Given the description of an element on the screen output the (x, y) to click on. 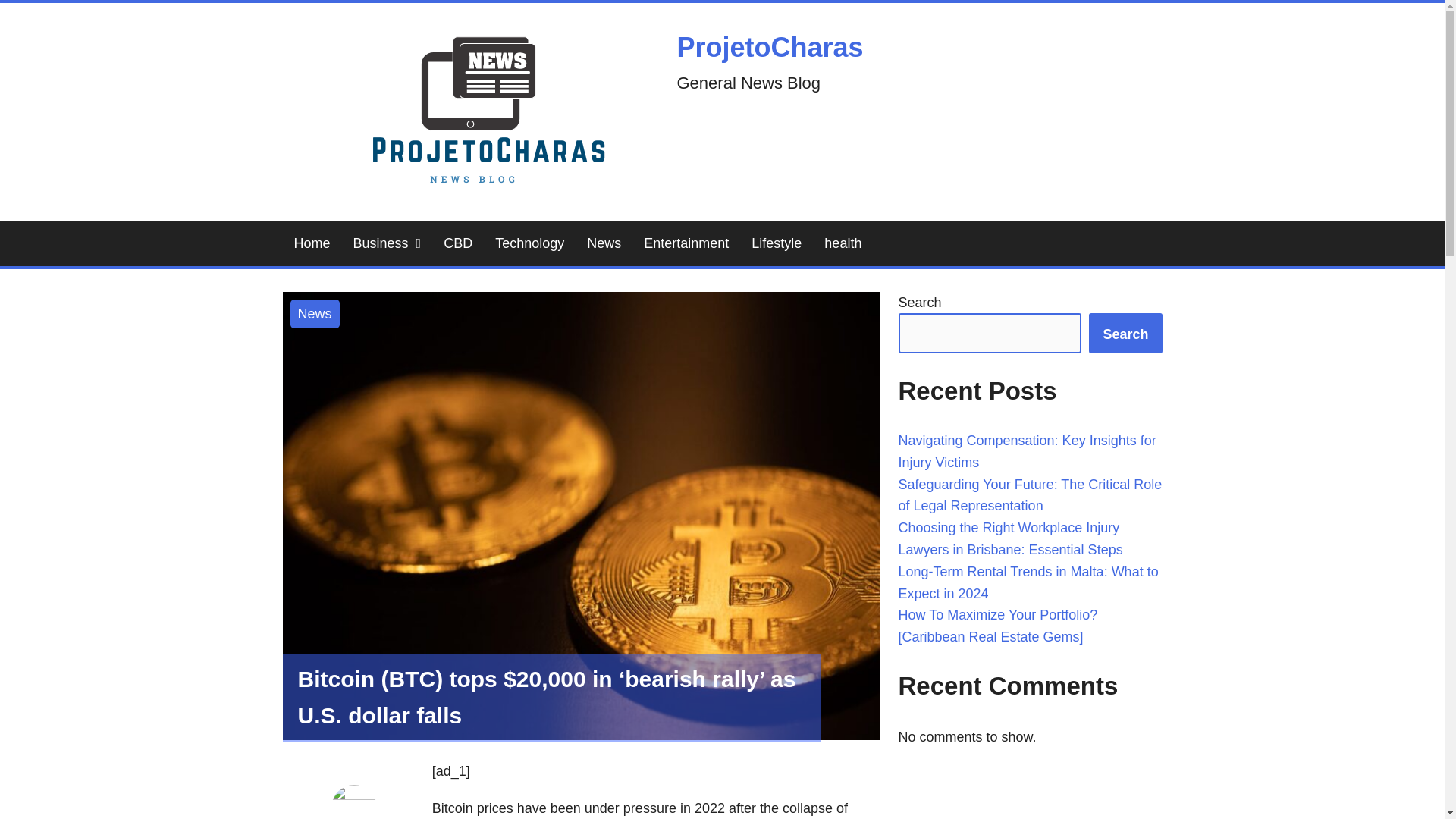
Home (311, 243)
Entertainment (685, 243)
News (603, 243)
Business (387, 243)
Navigating Compensation: Key Insights for Injury Victims (1027, 451)
Long-Term Rental Trends in Malta: What to Expect in 2024 (1027, 582)
Lifestyle (775, 243)
ProjetoCharas (770, 47)
